Given the description of an element on the screen output the (x, y) to click on. 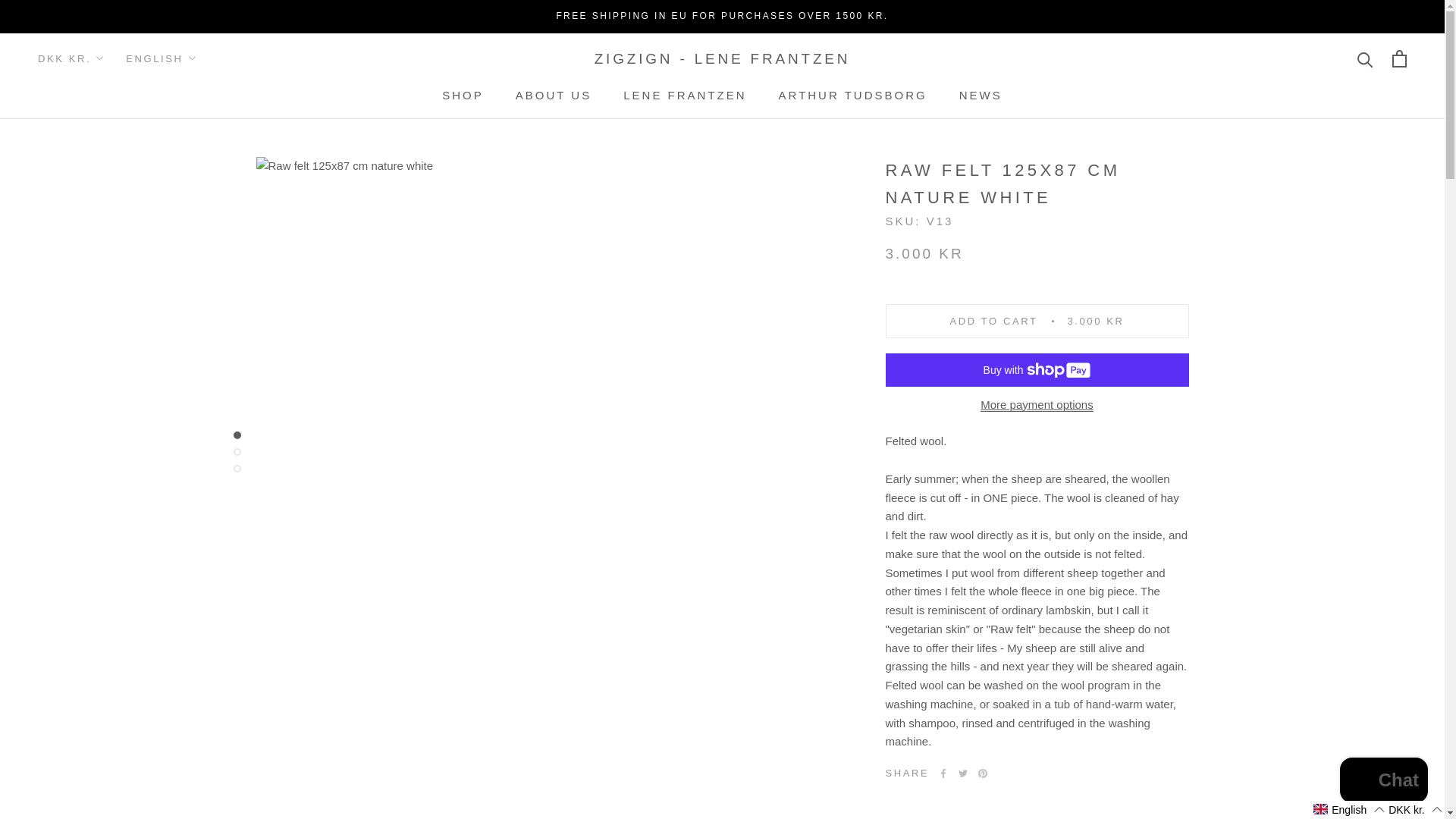
Shopify online store chat (1383, 781)
FREE SHIPPING IN EU FOR PURCHASES OVER 1500 KR. (722, 15)
SHOP (462, 94)
